Given the description of an element on the screen output the (x, y) to click on. 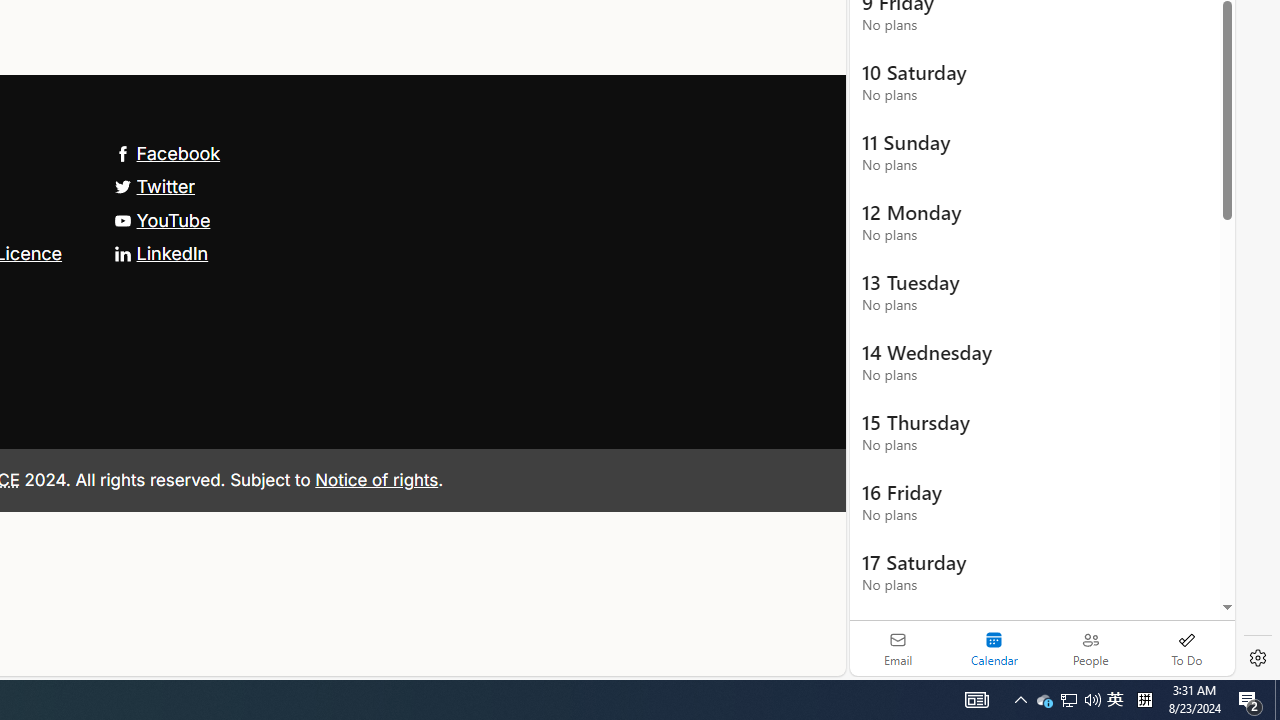
To Do (1186, 648)
People (1090, 648)
Email (898, 648)
YouTube (162, 219)
Facebook (167, 152)
Selected calendar module. Date today is 22 (994, 648)
Twitter (154, 186)
